Given the description of an element on the screen output the (x, y) to click on. 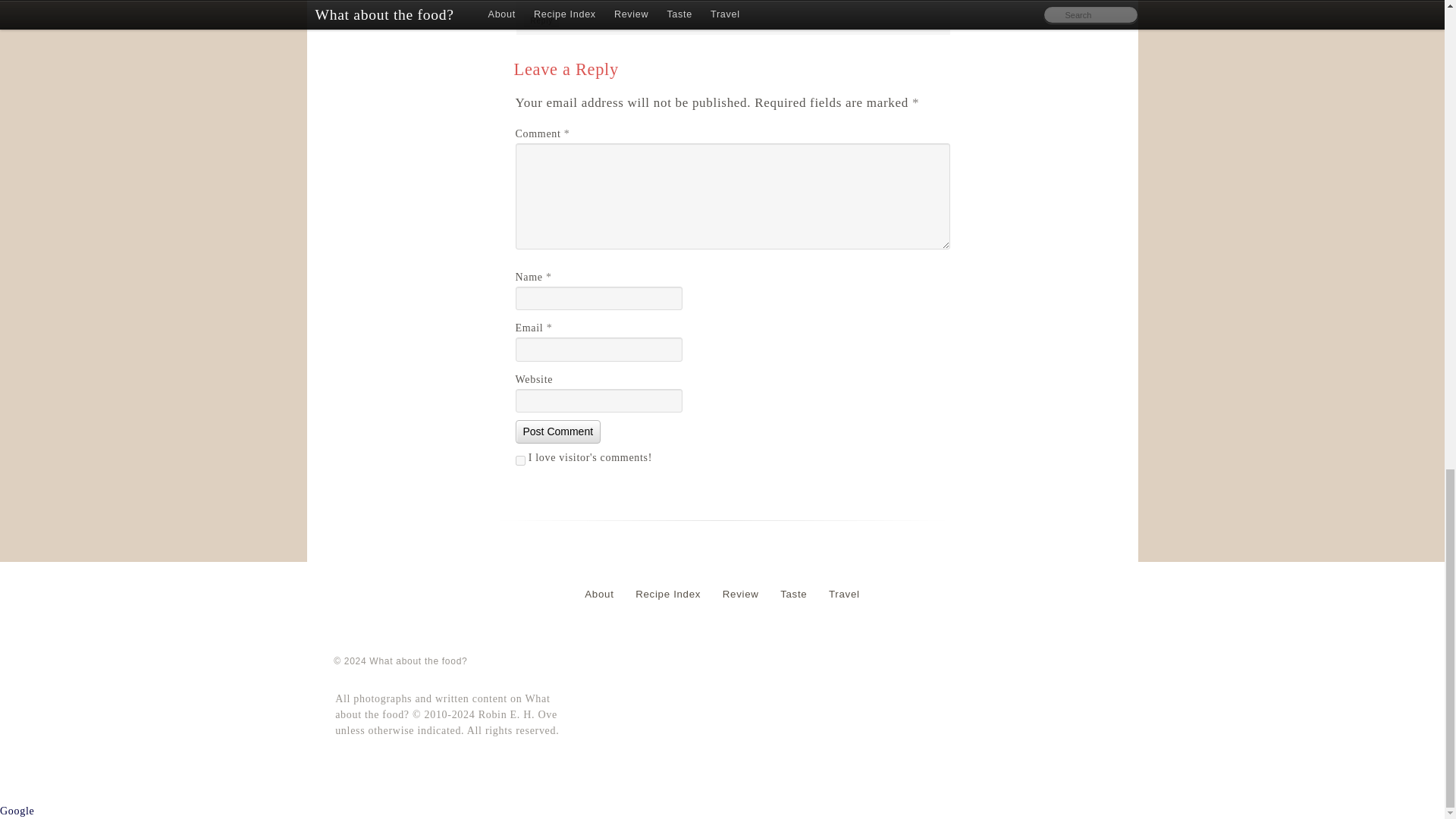
Reply (541, 20)
Post Comment (558, 431)
Post Comment (558, 431)
on (520, 460)
About (597, 593)
